Given the description of an element on the screen output the (x, y) to click on. 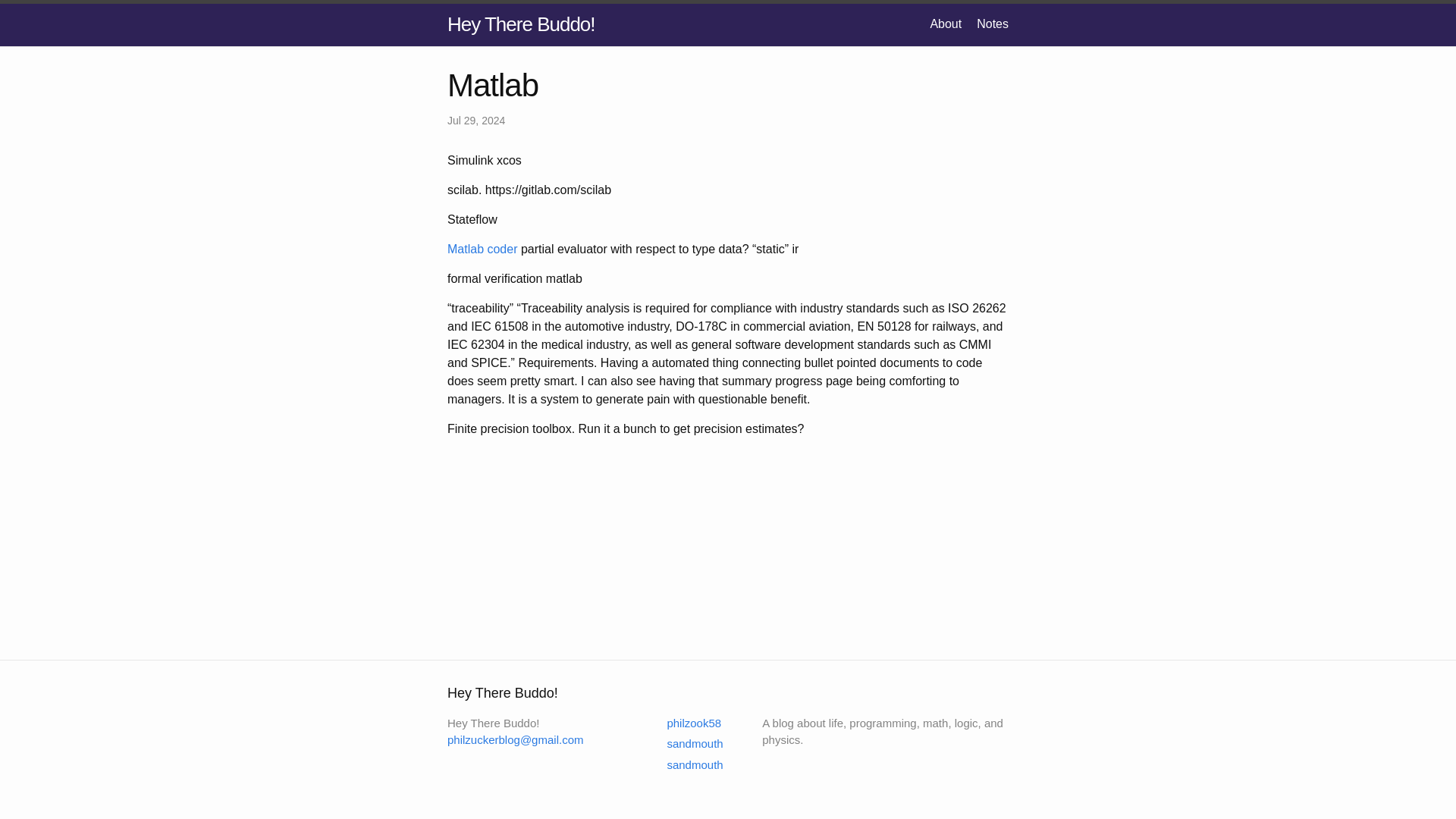
philzook58 (683, 721)
sandmouth (684, 743)
About (945, 23)
Hey There Buddo! (520, 24)
Notes (992, 23)
sandmouth (684, 764)
Matlab coder (482, 248)
